Given the description of an element on the screen output the (x, y) to click on. 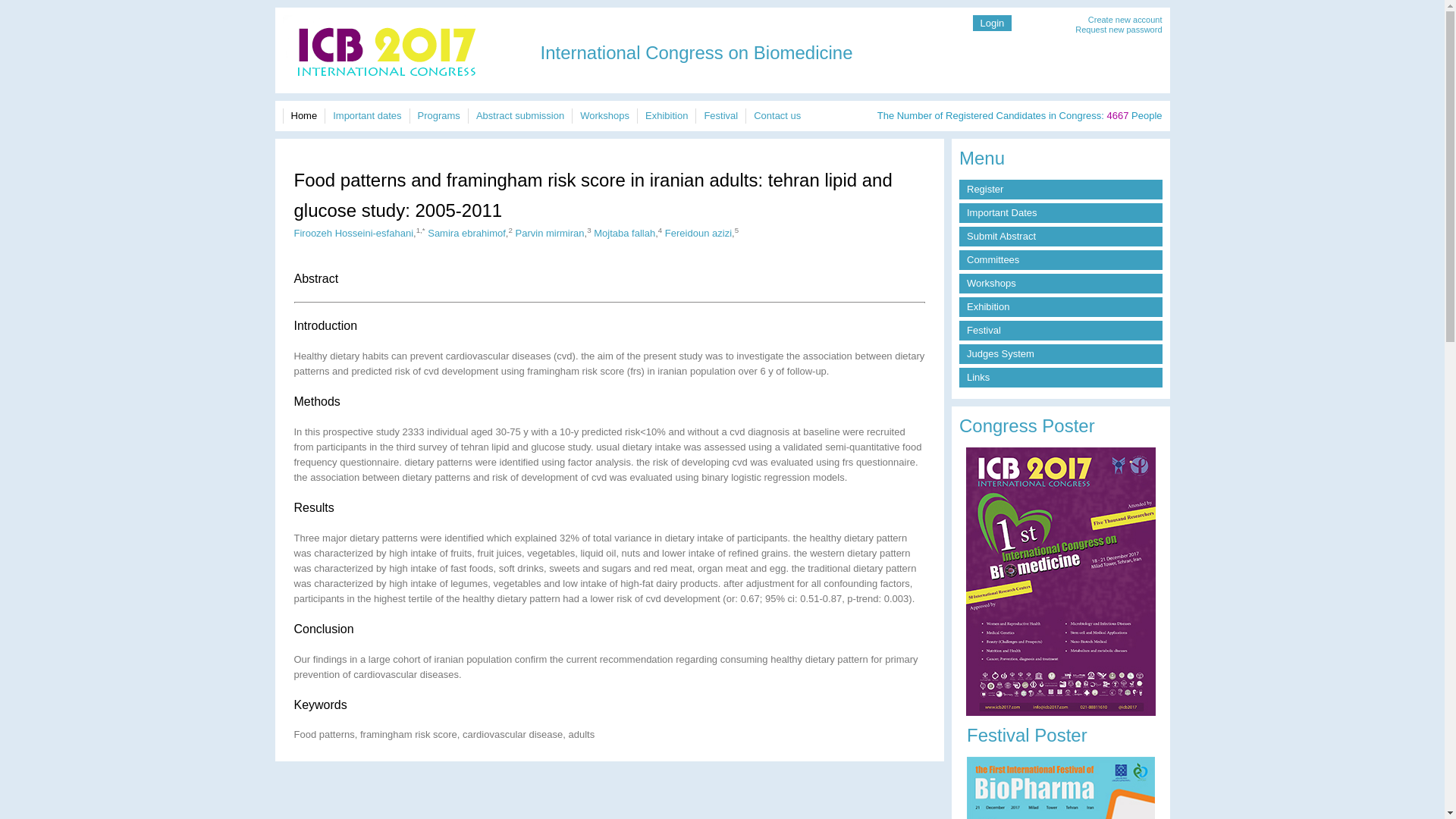
Login (991, 23)
Firoozeh Hosseini-esfahani (353, 233)
Submit Abstract (1060, 236)
Create new account (1124, 19)
Workshops (603, 115)
Exhibition (1060, 306)
Programs (438, 115)
Home (405, 77)
Festival (720, 115)
Login (991, 23)
Abstract submission (520, 115)
Contact us (777, 115)
Parvin mirmiran (550, 233)
Request new password (1118, 29)
Mojtaba fallah (624, 233)
